Given the description of an element on the screen output the (x, y) to click on. 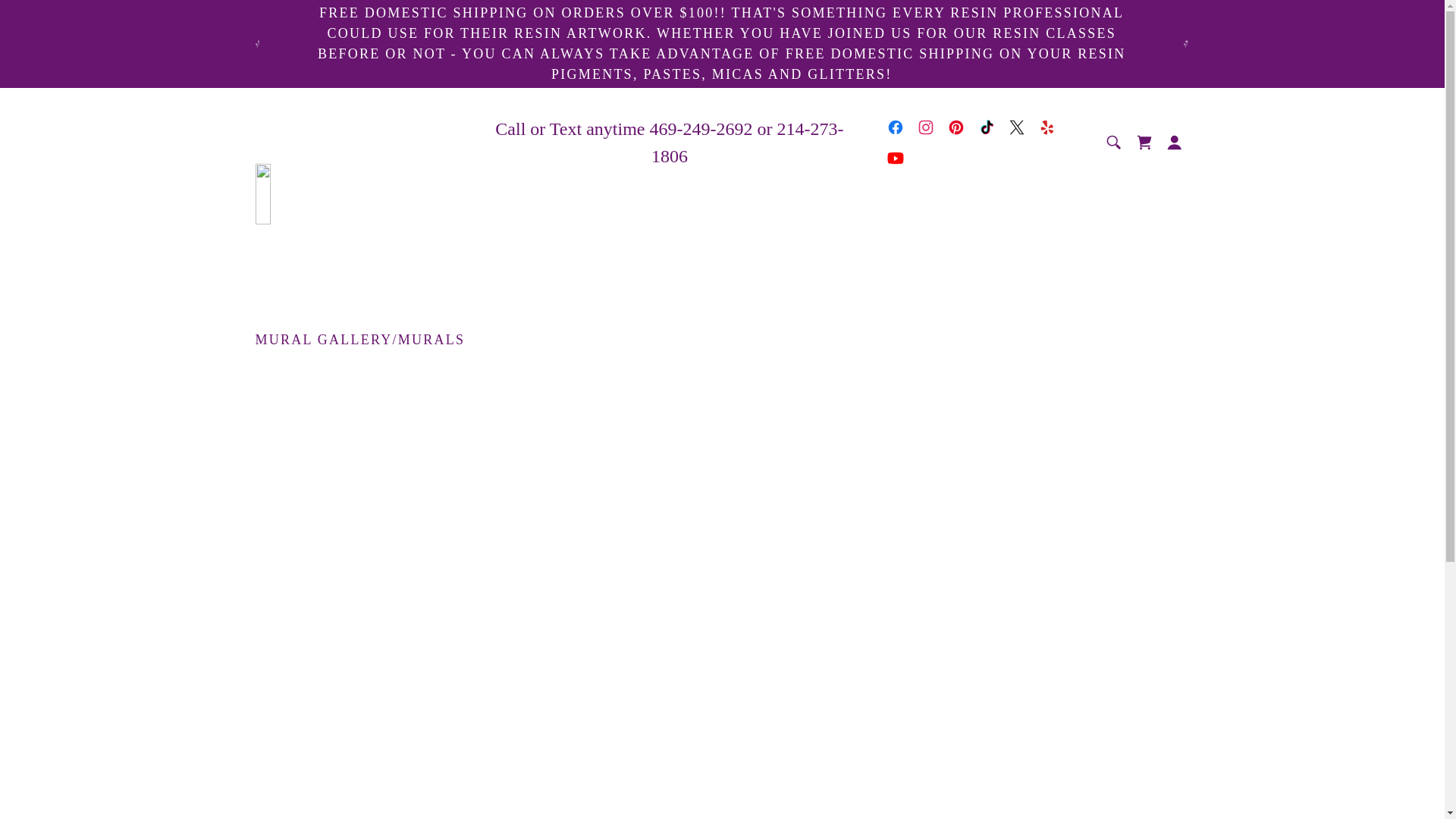
469-249-2692 (700, 128)
214-273-1806 (747, 142)
